Given the description of an element on the screen output the (x, y) to click on. 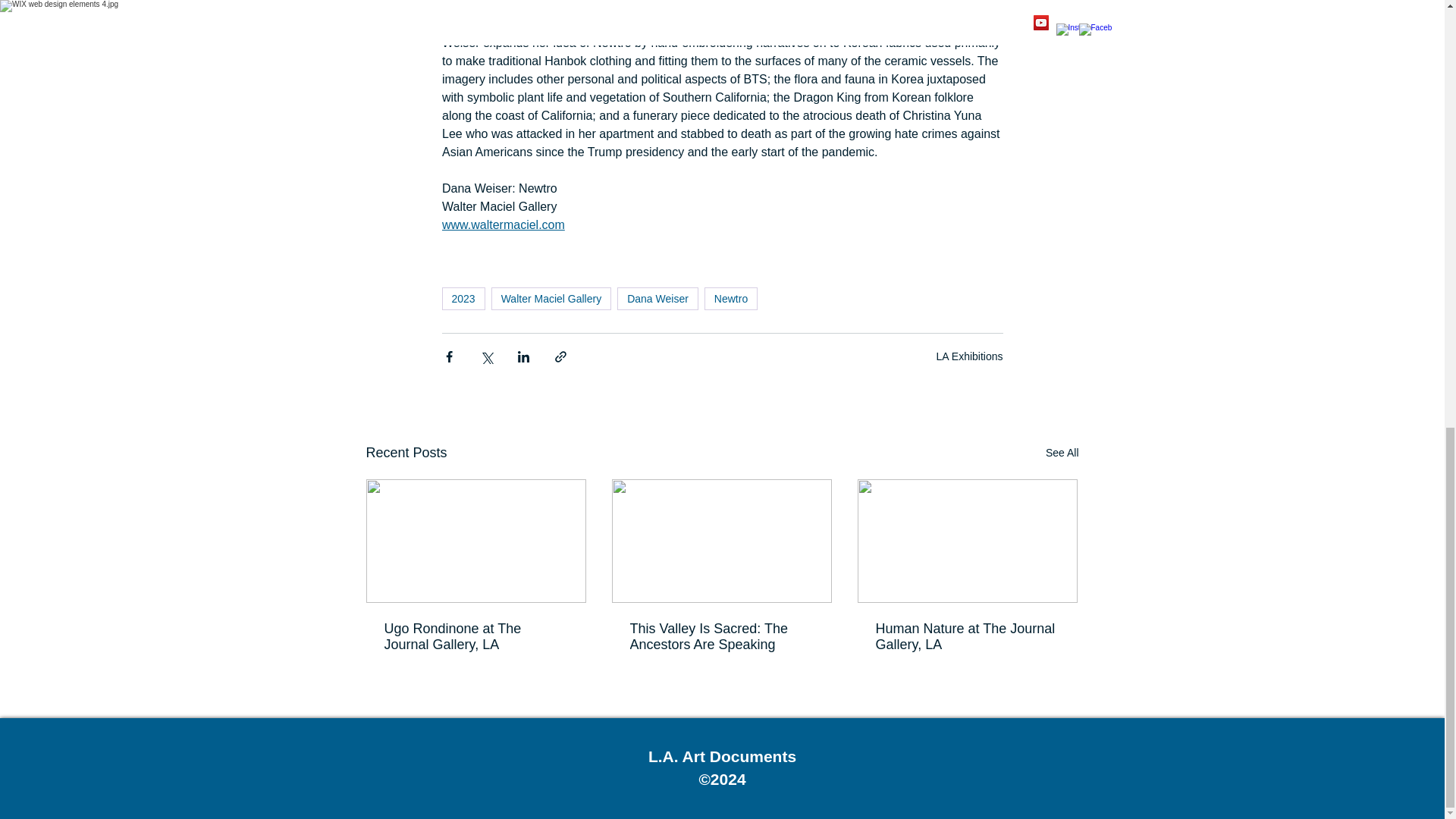
www.waltermaciel.com (502, 224)
Newtro (730, 298)
LA Exhibitions (969, 356)
Walter Maciel Gallery (551, 298)
Ugo Rondinone at The Journal Gallery, LA (475, 636)
2023 (462, 298)
See All (1061, 453)
Dana Weiser (657, 298)
This Valley Is Sacred: The Ancestors Are Speaking (720, 636)
